Given the description of an element on the screen output the (x, y) to click on. 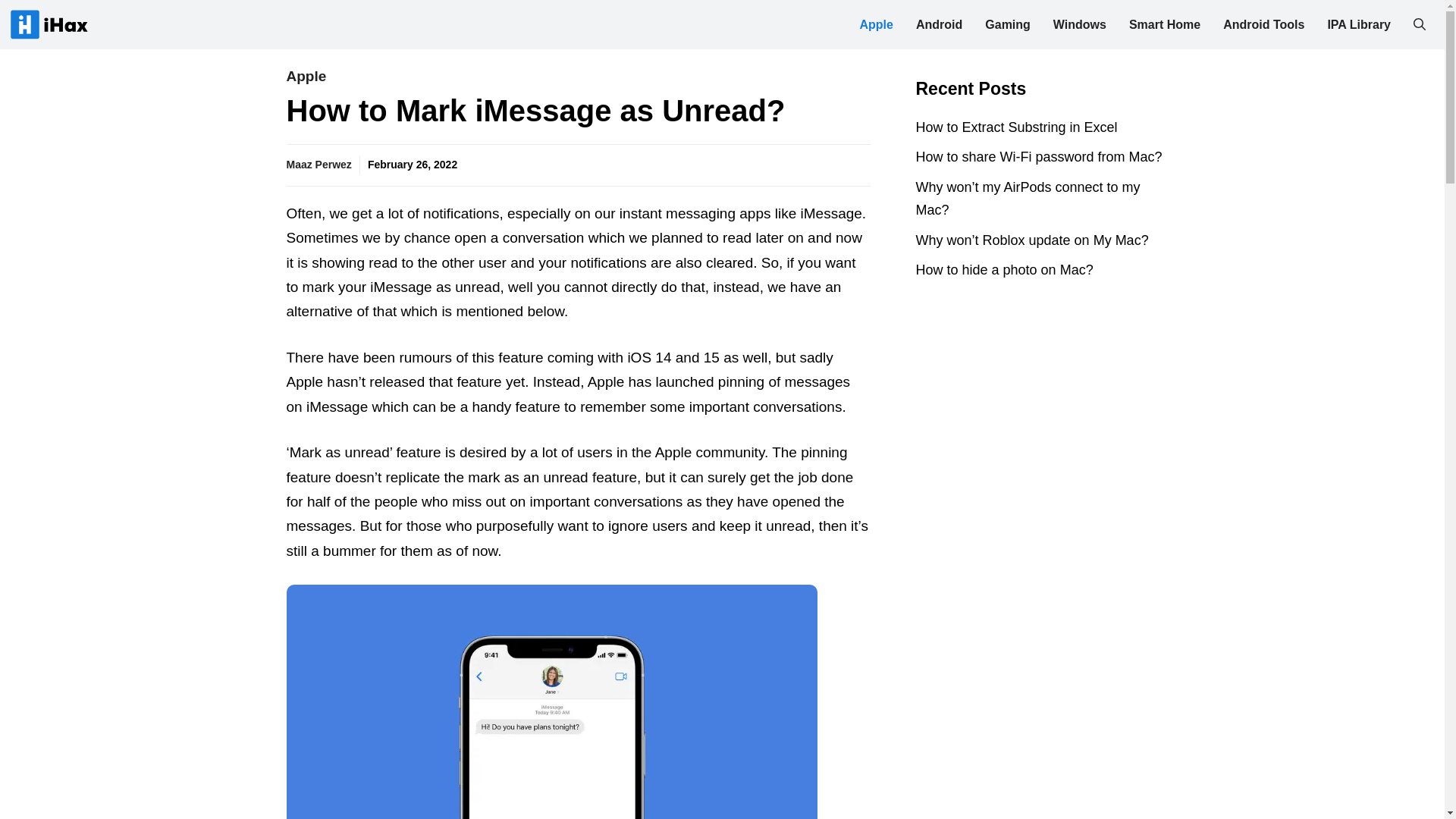
Mark iMessage Unread - How to Mark iMessage as Unread? (551, 701)
IPA Library (1359, 24)
How to share Wi-Fi password from Mac? (1038, 156)
How to Extract Substring in Excel (1016, 127)
Android (939, 24)
Smart Home (1164, 24)
Maaz Perwez (319, 164)
Windows (1080, 24)
Gaming (1008, 24)
Android Tools (1263, 24)
